Given the description of an element on the screen output the (x, y) to click on. 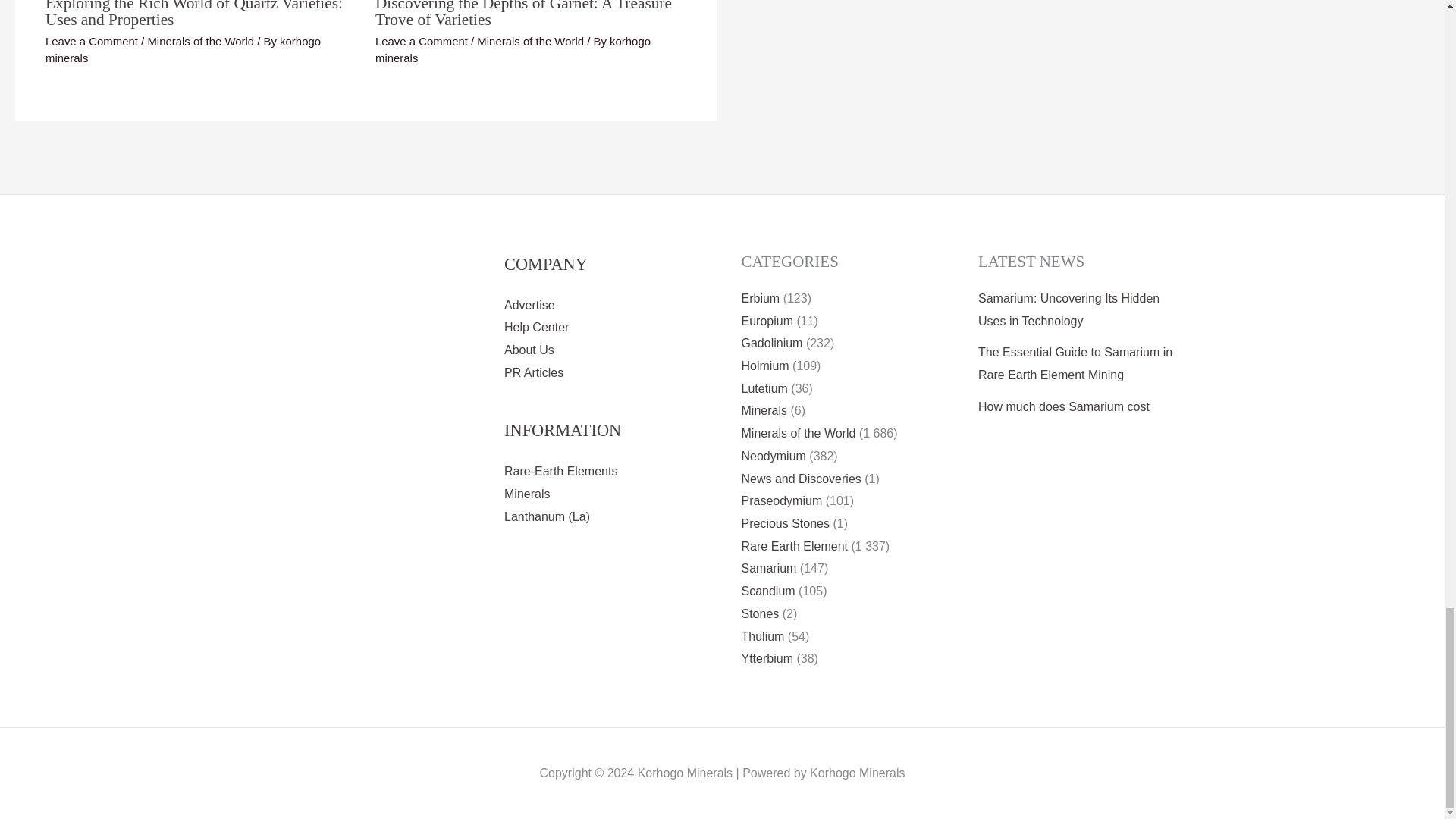
korhogo minerals (512, 49)
korhogo minerals (182, 49)
View all posts by korhogo minerals (512, 49)
Leave a Comment (91, 41)
Minerals of the World (200, 41)
Leave a Comment (421, 41)
View all posts by korhogo minerals (182, 49)
Minerals of the World (530, 41)
